Given the description of an element on the screen output the (x, y) to click on. 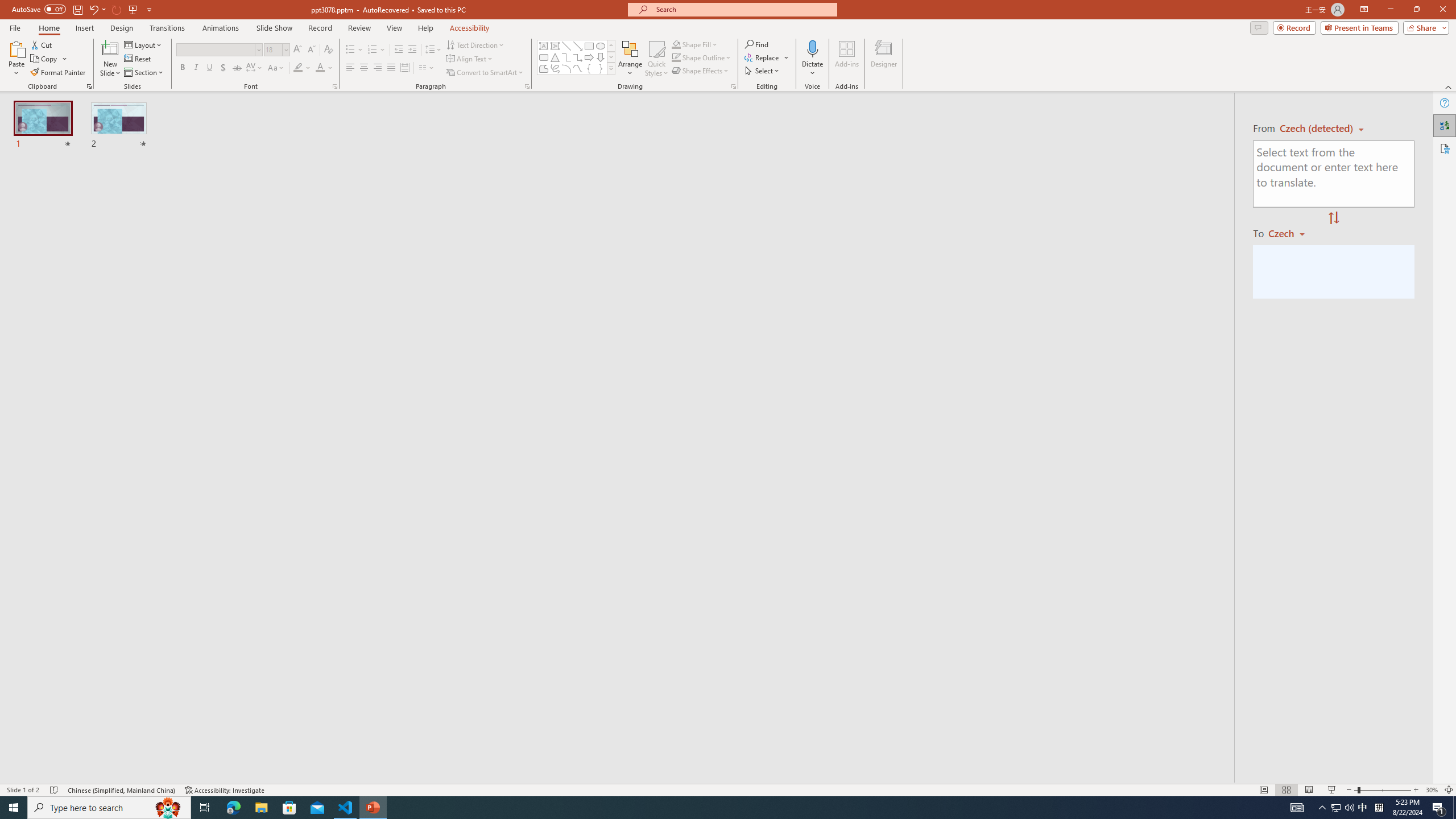
Swap "from" and "to" languages. (1333, 218)
Czech (1291, 232)
